Given the description of an element on the screen output the (x, y) to click on. 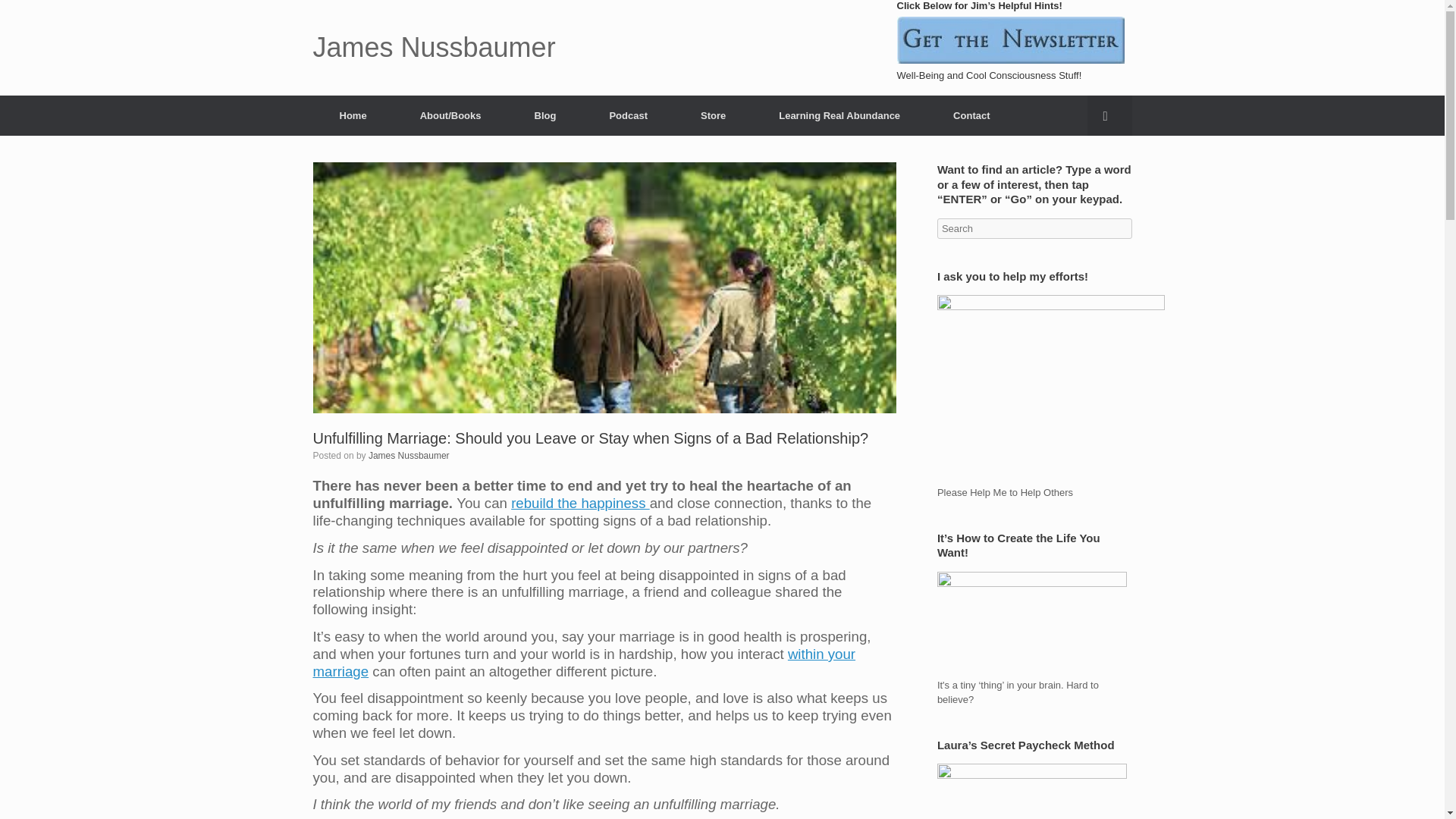
rebuild the happiness (580, 503)
Blog (545, 115)
It's How to Create the Life You Want! (1031, 624)
Podcast (628, 115)
Home (353, 115)
Click Below for Jim's Helpful Hints! (1010, 39)
James Nussbaumer (408, 455)
View all posts by James Nussbaumer (408, 455)
Store (713, 115)
Learning Real Abundance (839, 115)
James Nussbaumer (433, 47)
Contact (971, 115)
James Nussbaumer (433, 47)
within your marriage (584, 662)
